Given the description of an element on the screen output the (x, y) to click on. 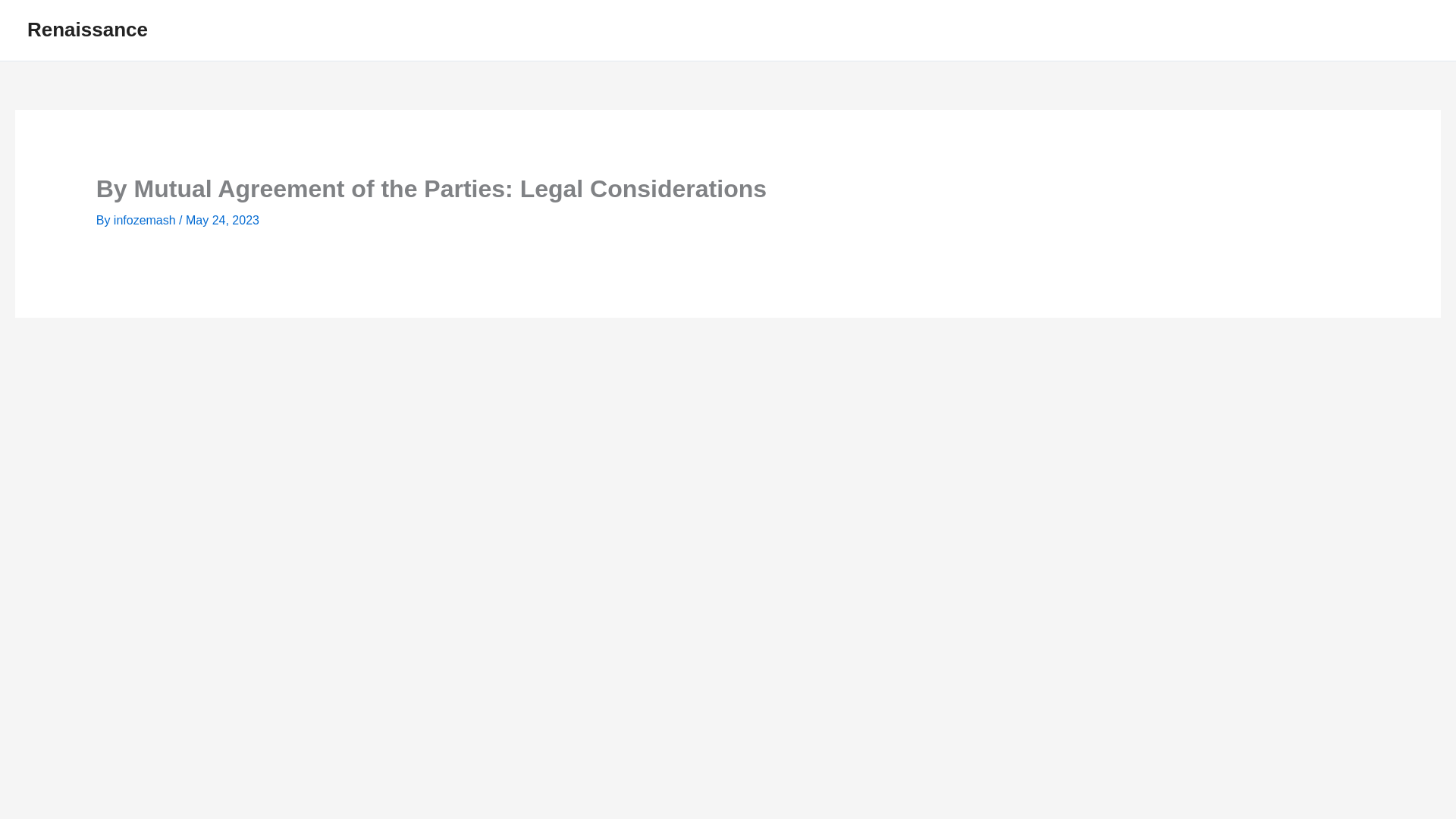
Renaissance (87, 29)
infozemash (146, 219)
View all posts by infozemash (146, 219)
